Given the description of an element on the screen output the (x, y) to click on. 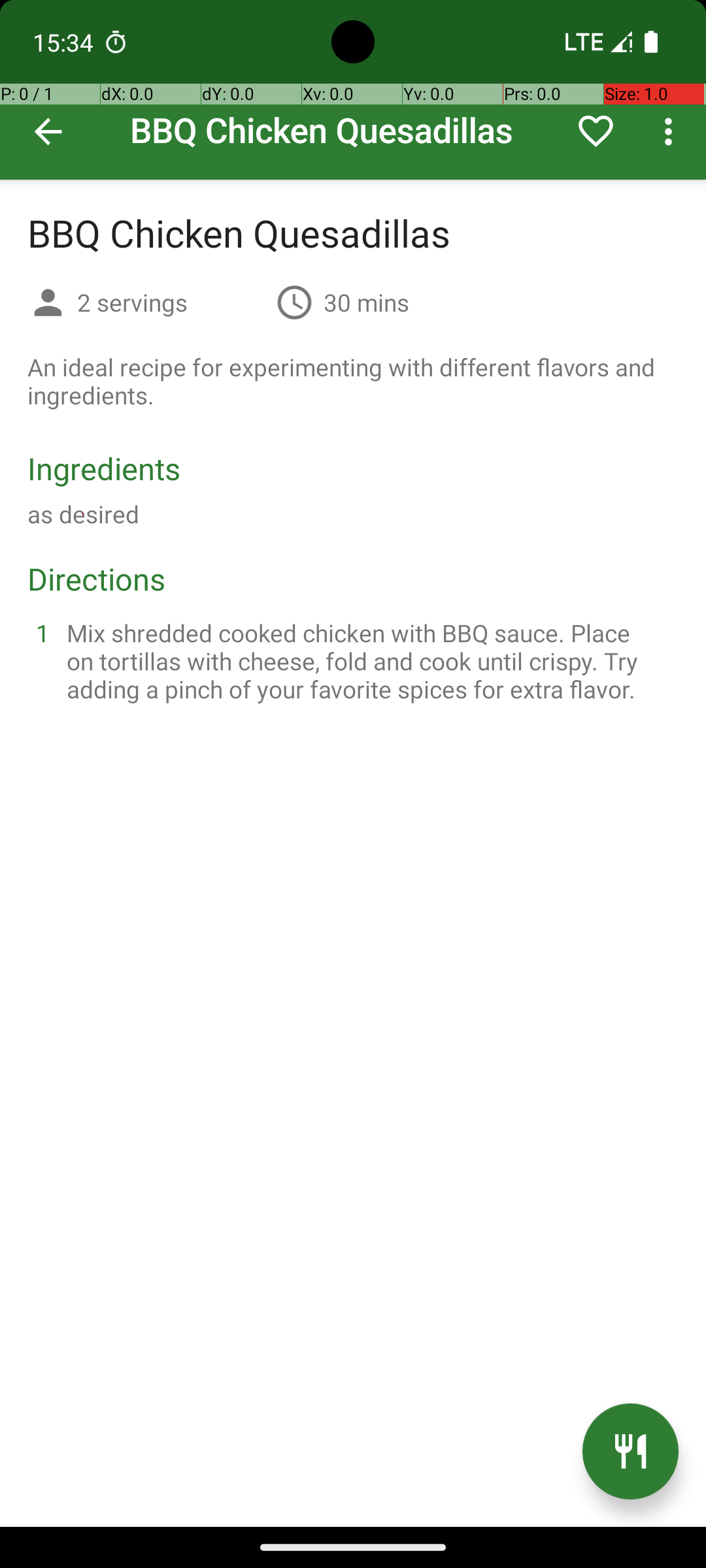
Mix shredded cooked chicken with BBQ sauce. Place on tortillas with cheese, fold and cook until crispy. Try adding a pinch of your favorite spices for extra flavor. Element type: android.widget.TextView (368, 660)
